Given the description of an element on the screen output the (x, y) to click on. 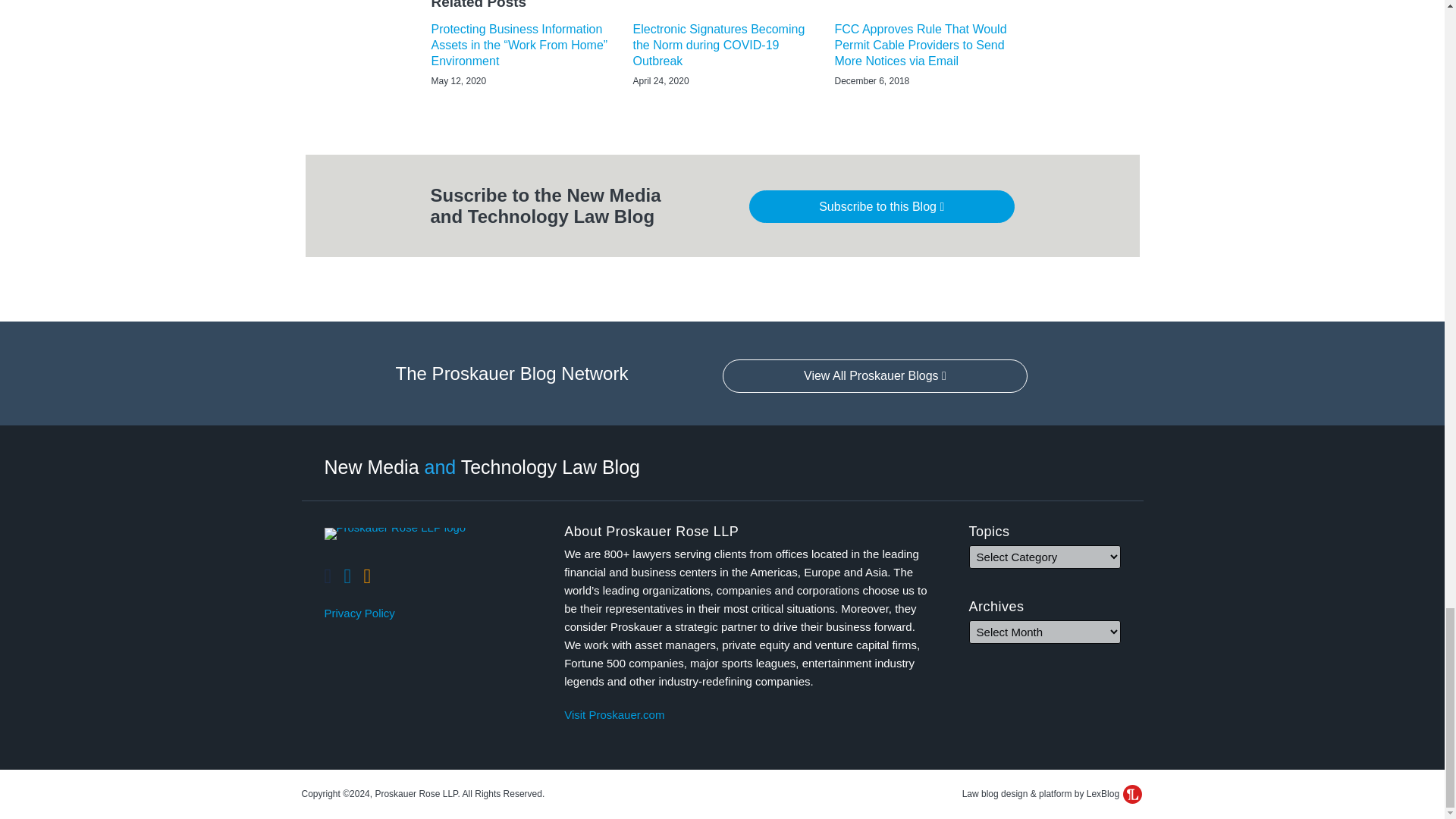
LexBlog Logo (1131, 793)
Subscribe to this Blog (881, 206)
